Given the description of an element on the screen output the (x, y) to click on. 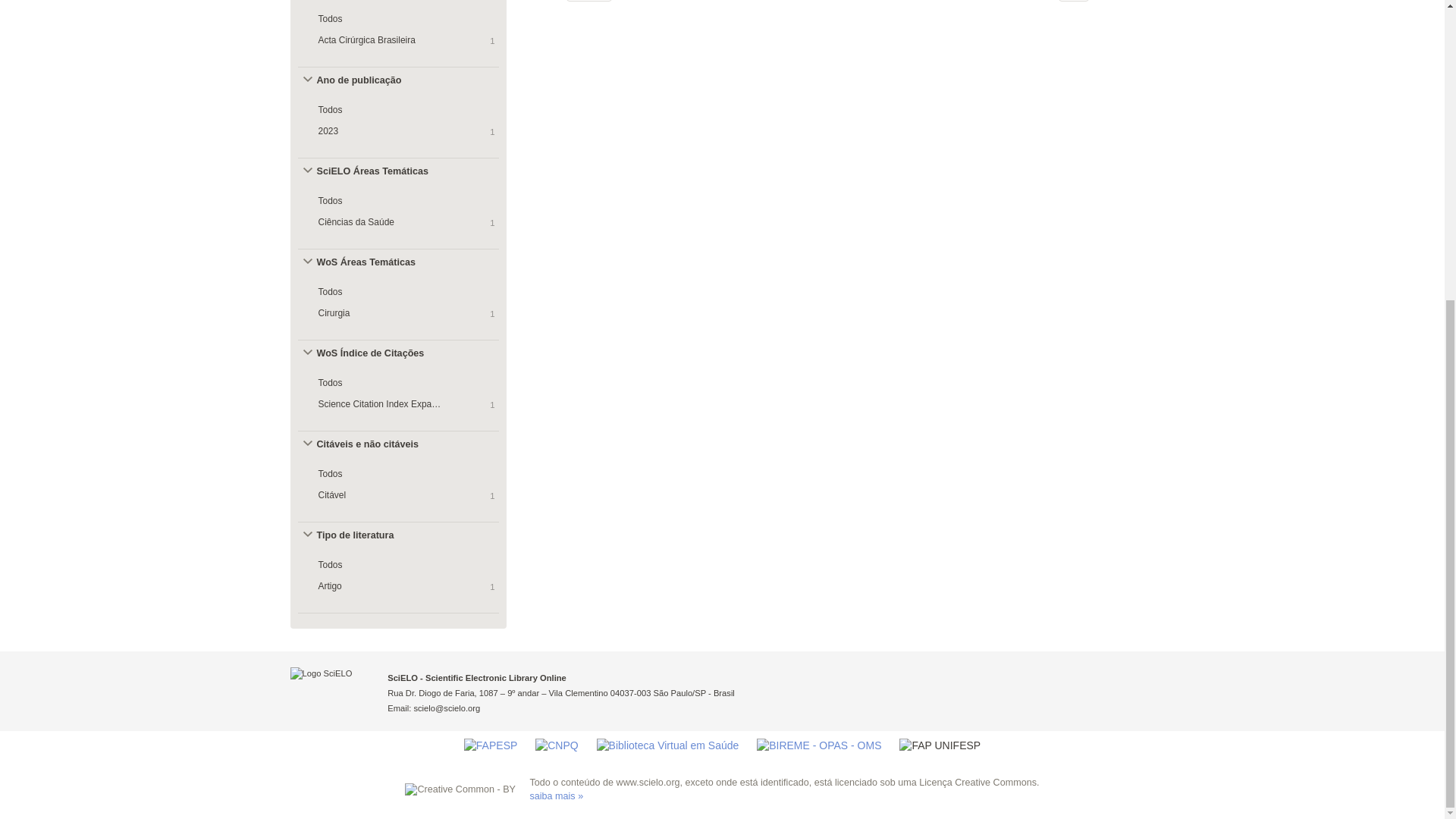
Tipo de literatura (371, 535)
Tipo de literatura (371, 535)
1 (1073, 0)
